Given the description of an element on the screen output the (x, y) to click on. 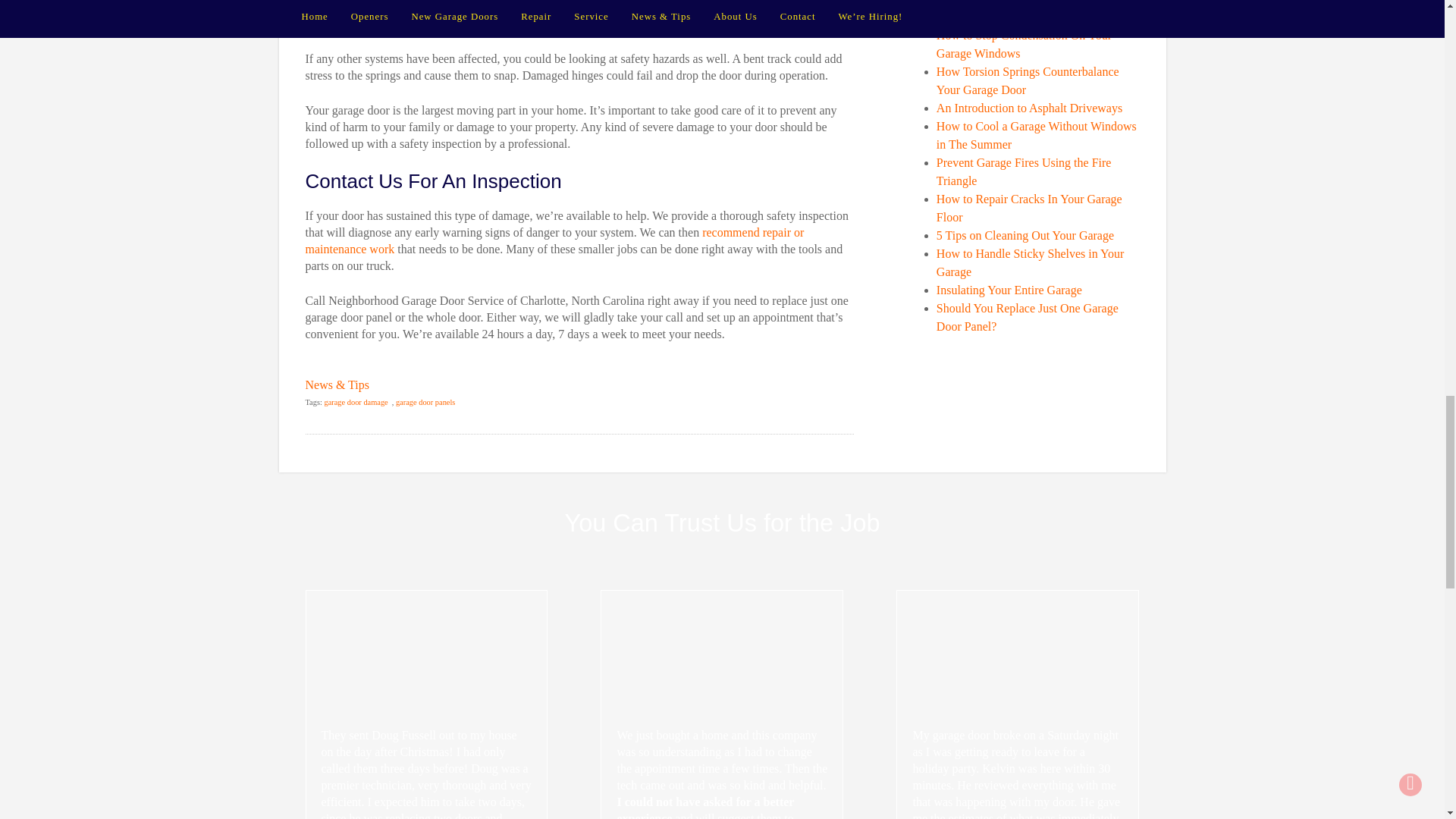
Tips to Choose The Right Heater For Your Garage (1026, 11)
Should You Replace Just One Garage Door Panel? (1027, 317)
5 Tips on Cleaning Out Your Garage (1024, 235)
How to Handle Sticky Shelves in Your Garage (1030, 262)
How to Cool a Garage Without Windows in The Summer (1036, 134)
garage door panels (425, 402)
Prevent Garage Fires Using the Fire Triangle (1024, 171)
garage door damage (355, 402)
How to Stop Condensation On Your Garage Windows (1024, 43)
recommend repair or maintenance work (553, 240)
